Given the description of an element on the screen output the (x, y) to click on. 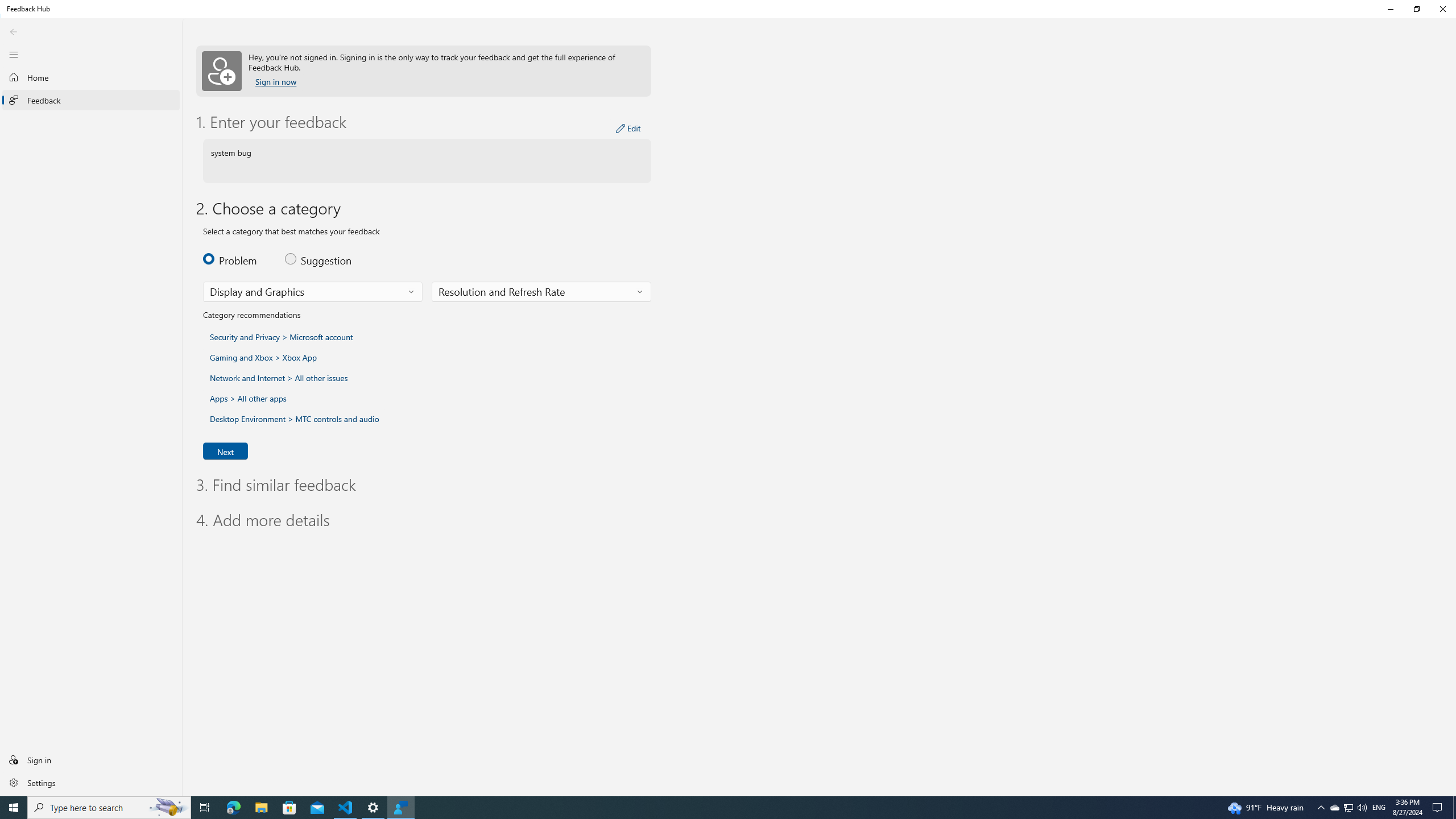
Close Feedback Hub (1442, 9)
Feedback subcategory (541, 291)
Select this category and subcategory: Apps > All other apps (1333, 807)
